Given the description of an element on the screen output the (x, y) to click on. 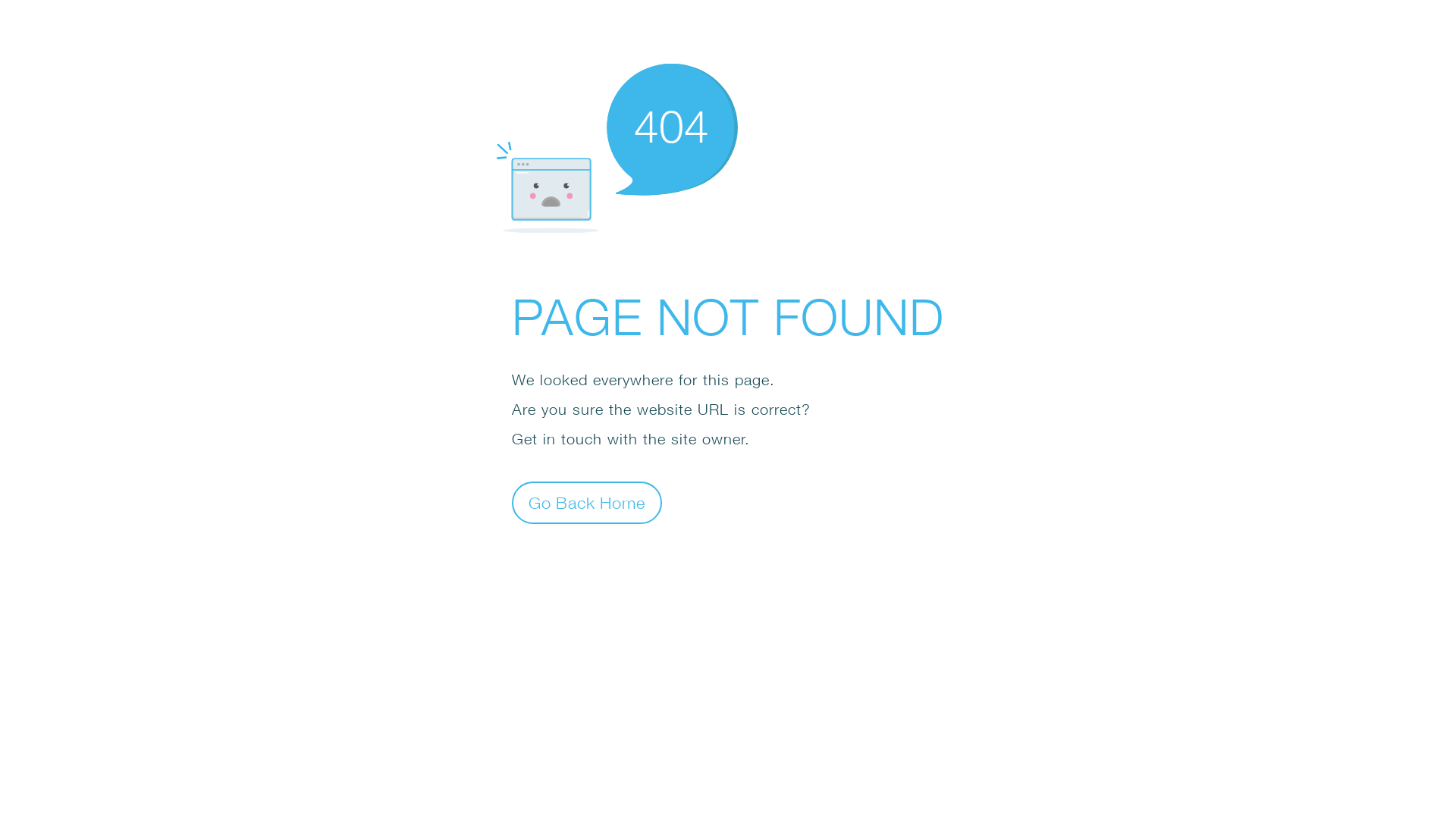
Go Back Home Element type: text (586, 502)
